Given the description of an element on the screen output the (x, y) to click on. 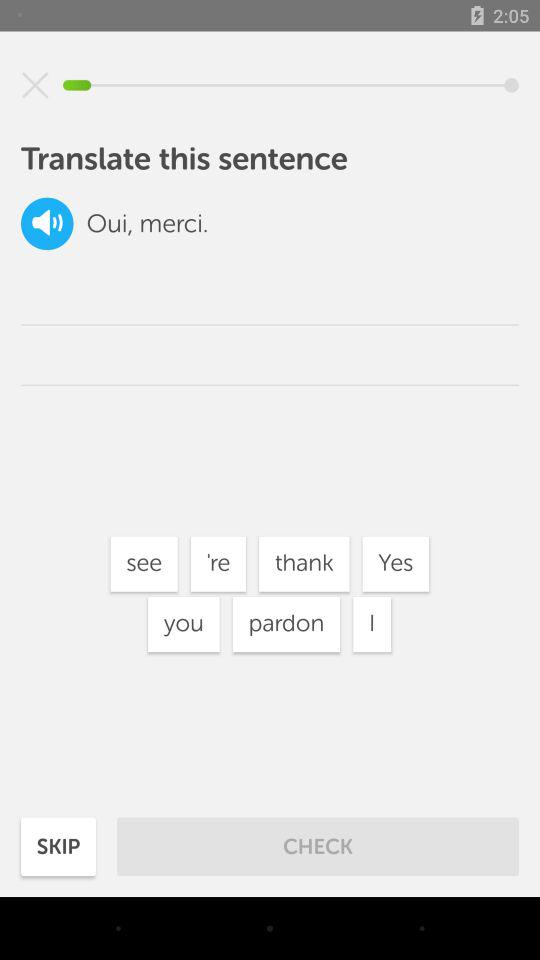
tap the icon next to the check item (58, 846)
